Given the description of an element on the screen output the (x, y) to click on. 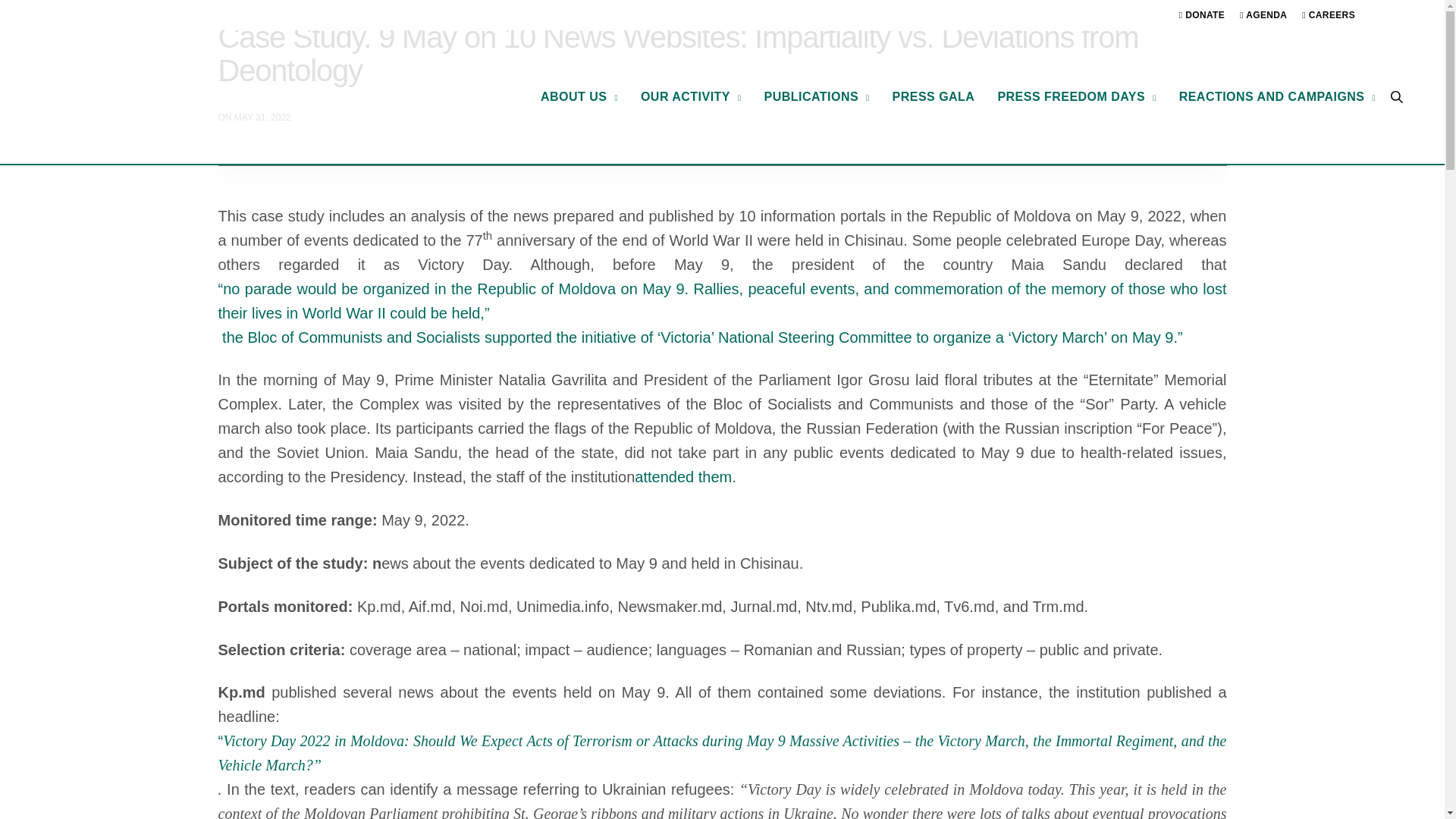
PRESS GALA (933, 96)
PUBLICATIONS (816, 96)
CAREERS (1328, 17)
OUR ACTIVITY (690, 96)
PRESS FREEDOM DAYS (1076, 96)
DONATE (1201, 17)
ABOUT US (578, 96)
AGENDA (1263, 17)
